Given the description of an element on the screen output the (x, y) to click on. 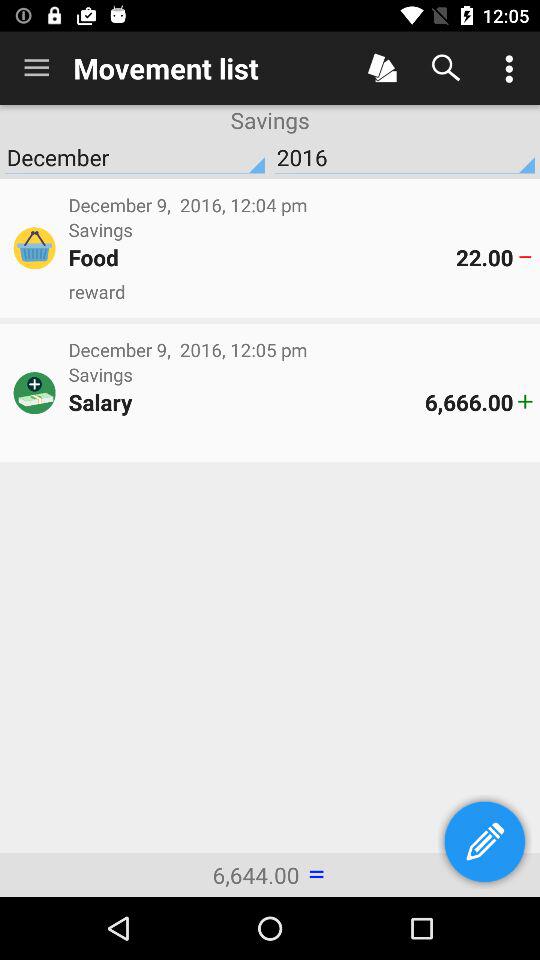
select item to the left of the movement list (36, 68)
